Given the description of an element on the screen output the (x, y) to click on. 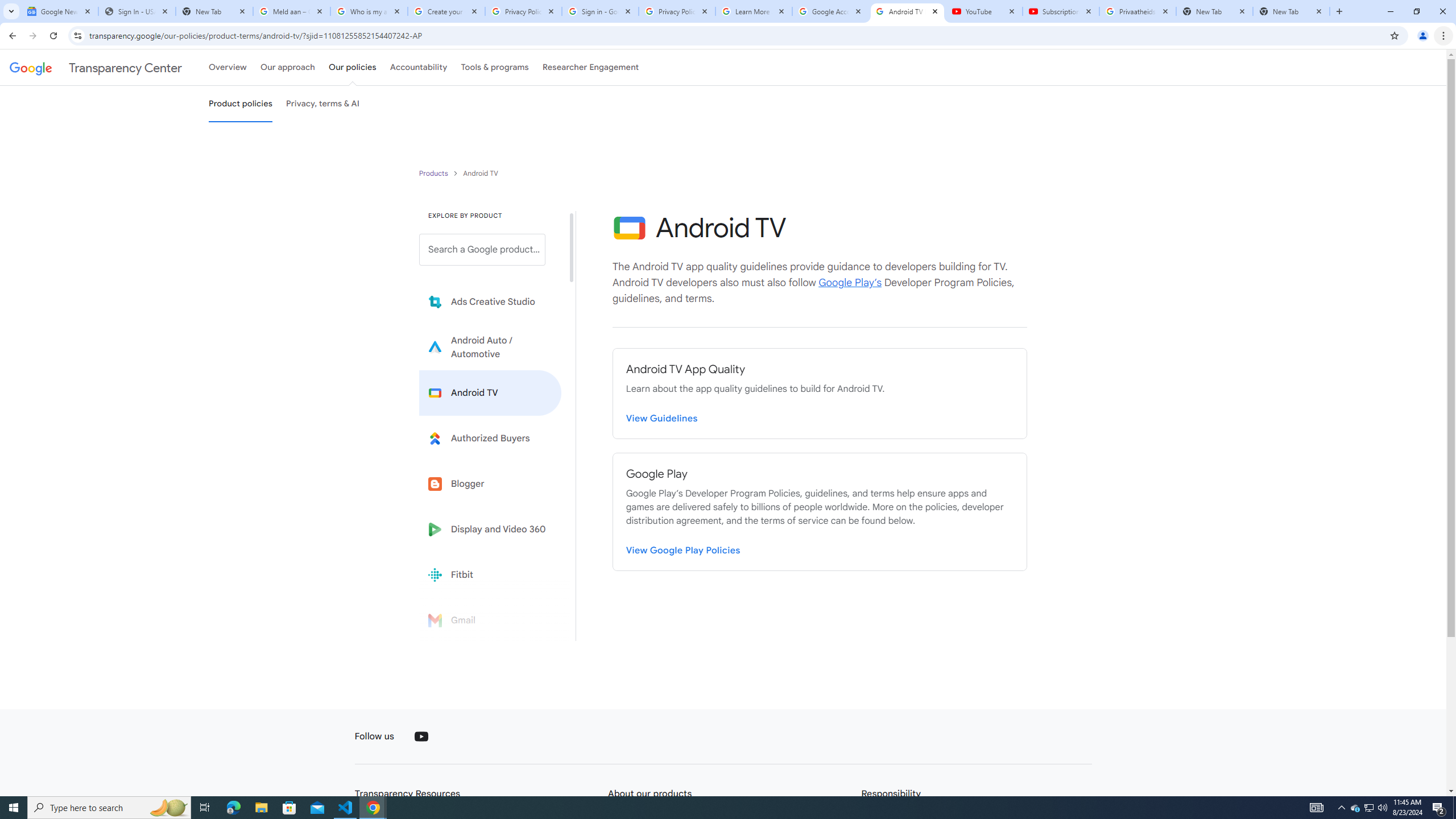
YouTube (421, 736)
Learn more about Android Auto (490, 347)
Sign in - Google Accounts (599, 11)
Our approach (287, 67)
Product policies (434, 173)
Fitbit (490, 574)
View Google Play Policies (683, 547)
Accountability (418, 67)
Researcher Engagement (590, 67)
